Given the description of an element on the screen output the (x, y) to click on. 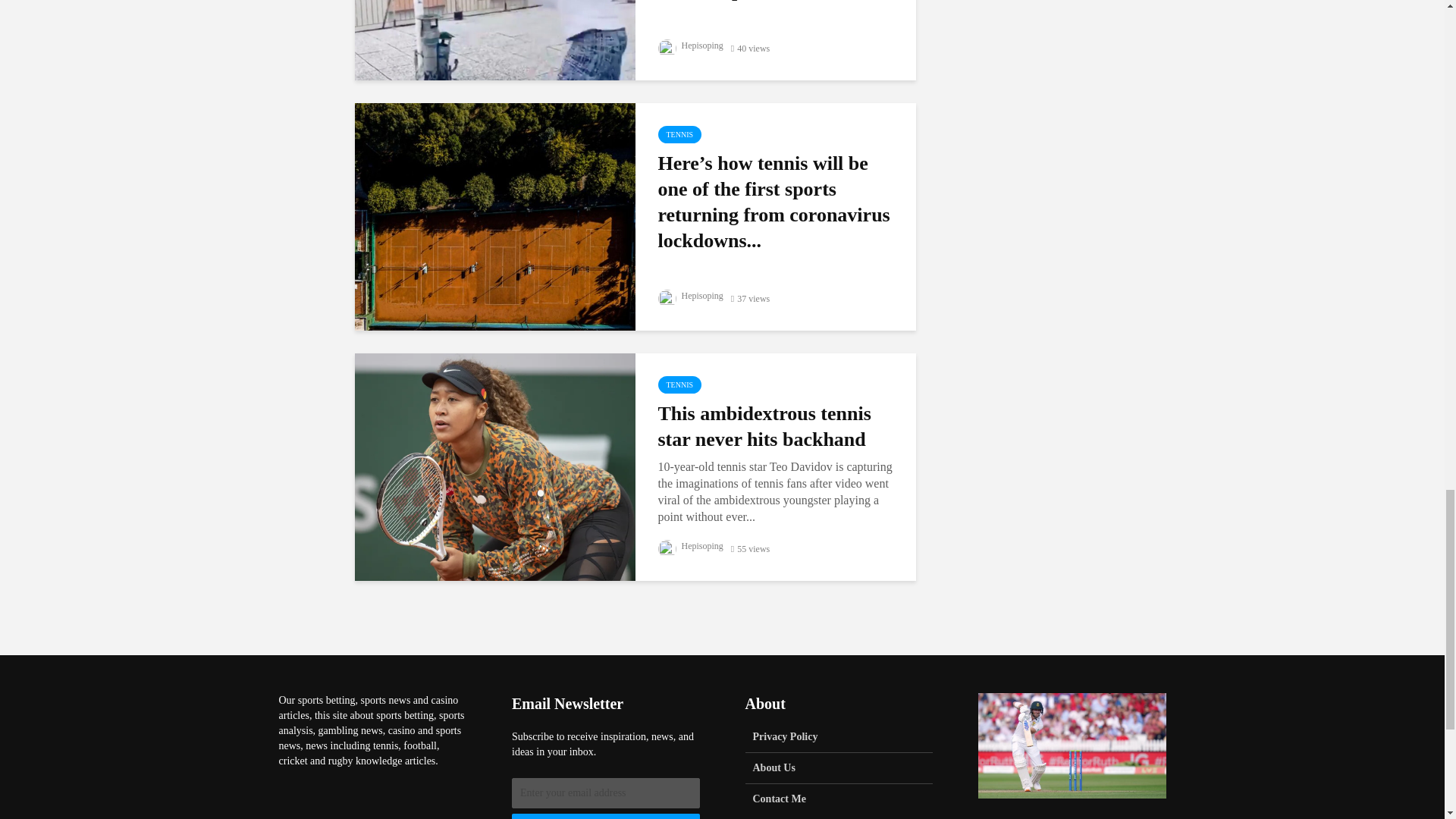
Subscribe (606, 816)
Subscribe (606, 816)
This ambidextrous tennis star never hits backhand (494, 465)
